Given the description of an element on the screen output the (x, y) to click on. 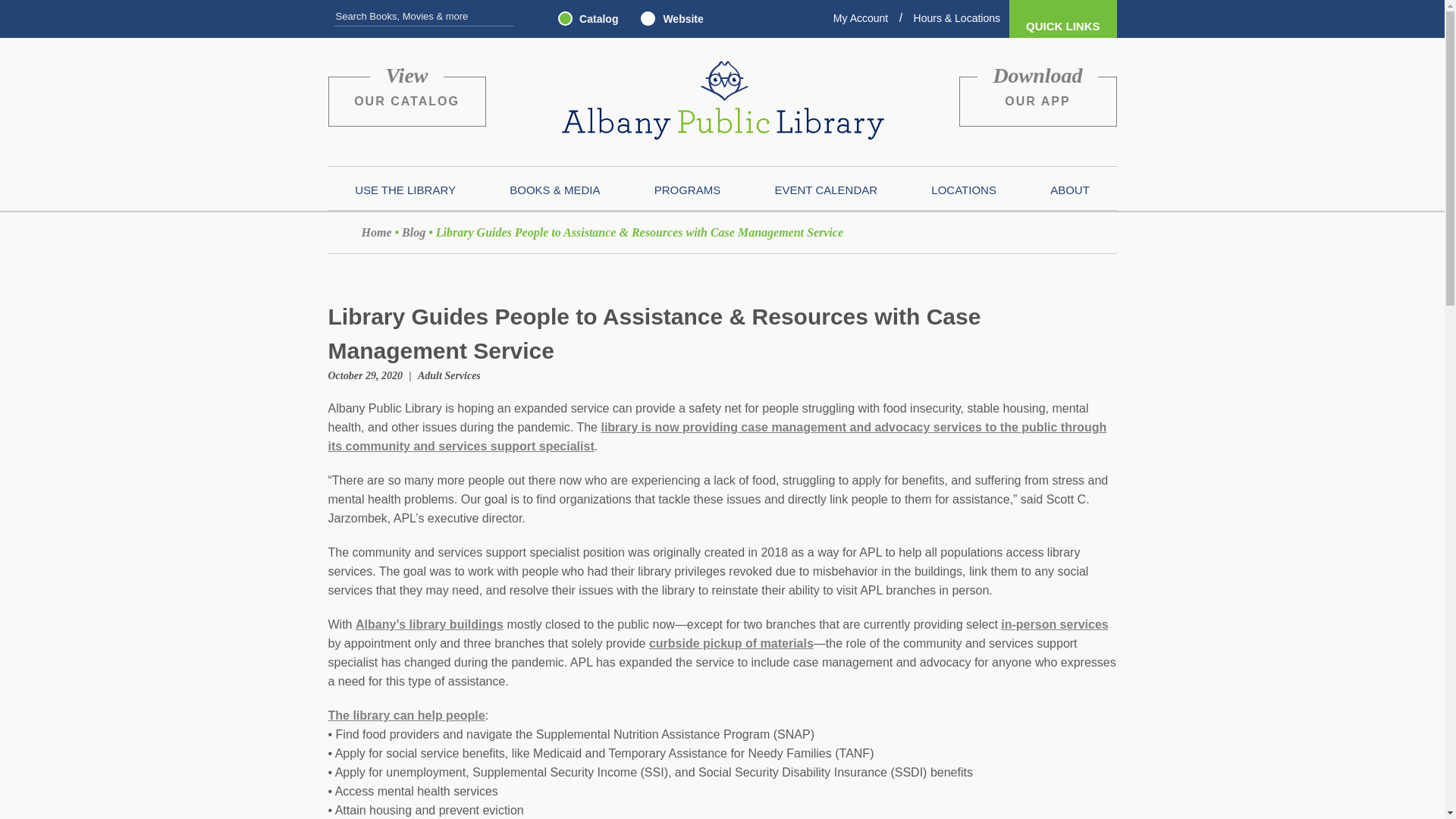
Website (667, 21)
My Account (860, 18)
USE THE LIBRARY (404, 192)
Catalog (584, 21)
